Given the description of an element on the screen output the (x, y) to click on. 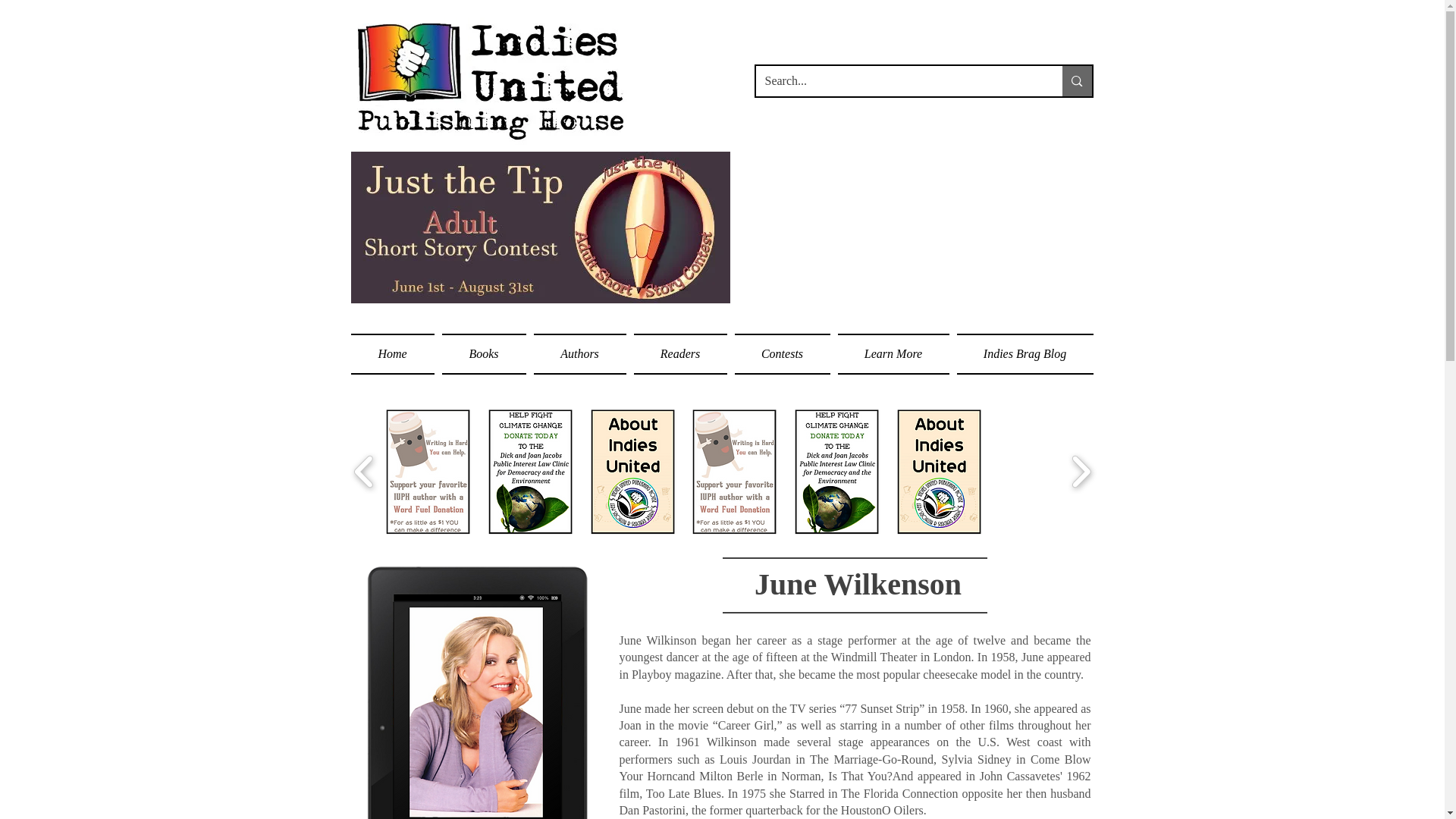
Urgency Countdown Timer (918, 227)
Indies Brag Blog (1022, 353)
Home (394, 353)
